Given the description of an element on the screen output the (x, y) to click on. 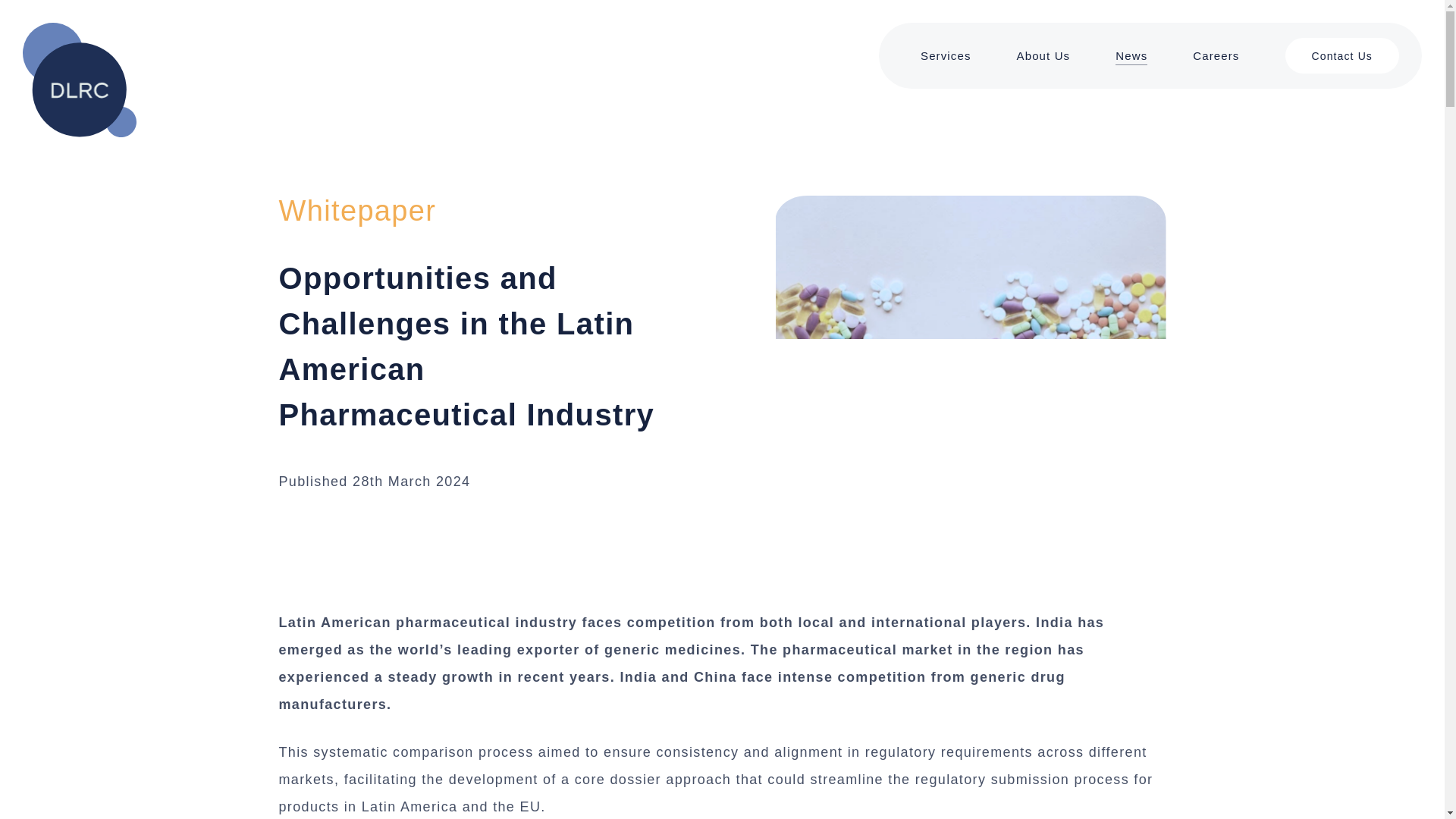
Careers (1215, 65)
Contact Us (1341, 64)
About Us (1043, 69)
News (1131, 68)
